Given the description of an element on the screen output the (x, y) to click on. 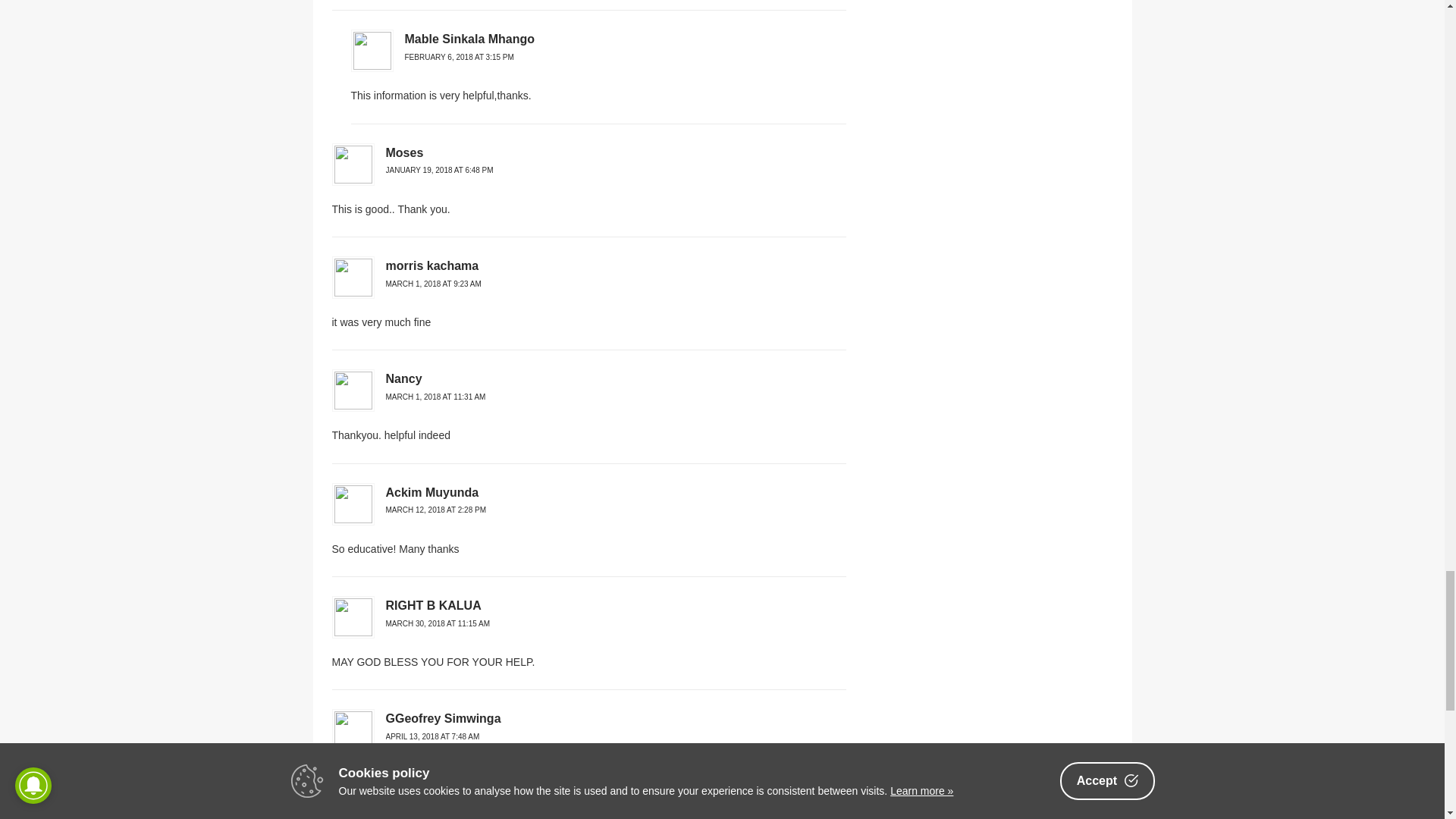
FEBRUARY 6, 2018 AT 3:15 PM (458, 57)
